Given the description of an element on the screen output the (x, y) to click on. 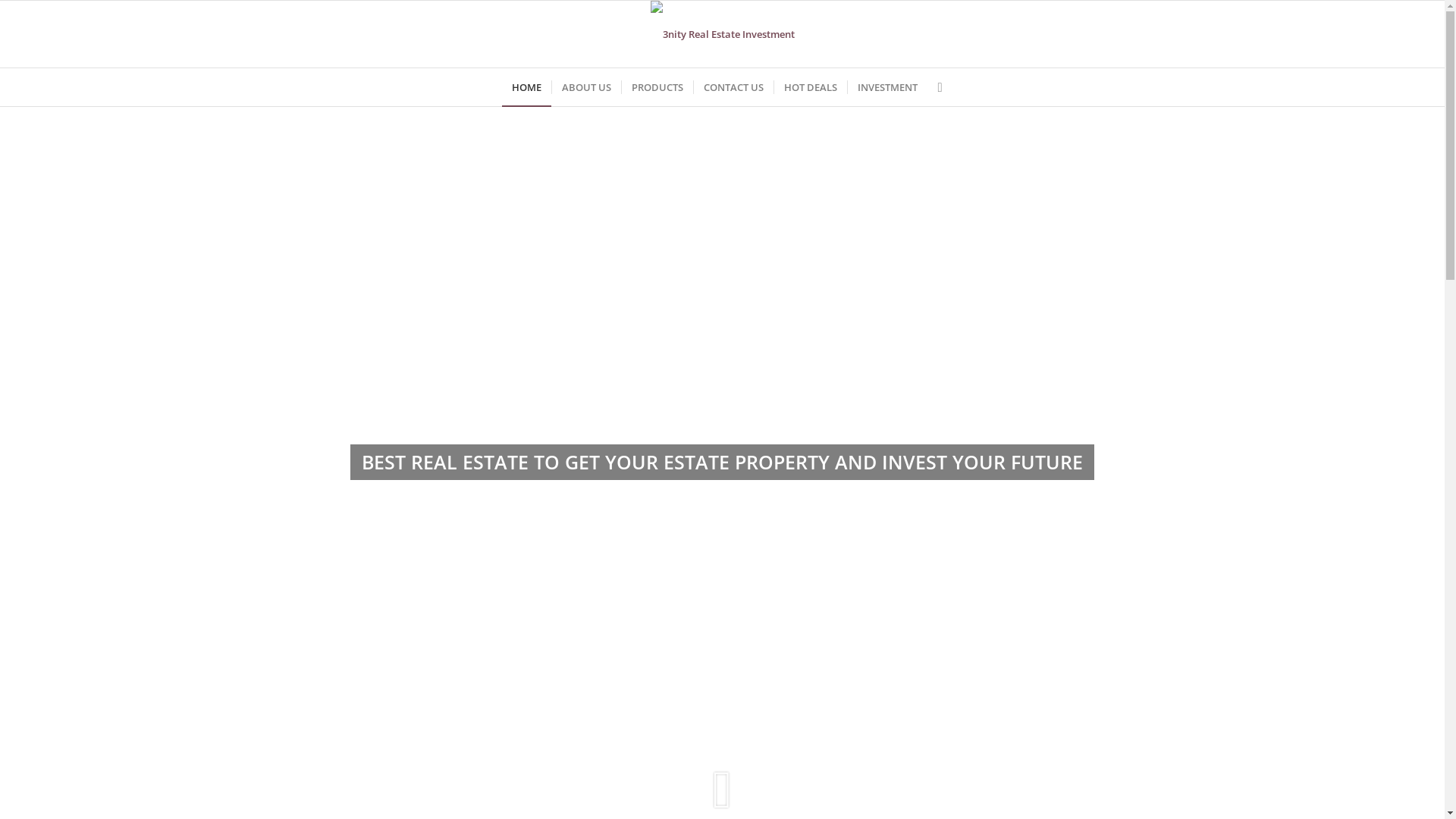
CONTACT US Element type: text (733, 87)
ABOUT US Element type: text (586, 87)
HOME Element type: text (526, 87)
HOT DEALS Element type: text (810, 87)
PRODUCTS Element type: text (657, 87)
INVESTMENT Element type: text (887, 87)
